Given the description of an element on the screen output the (x, y) to click on. 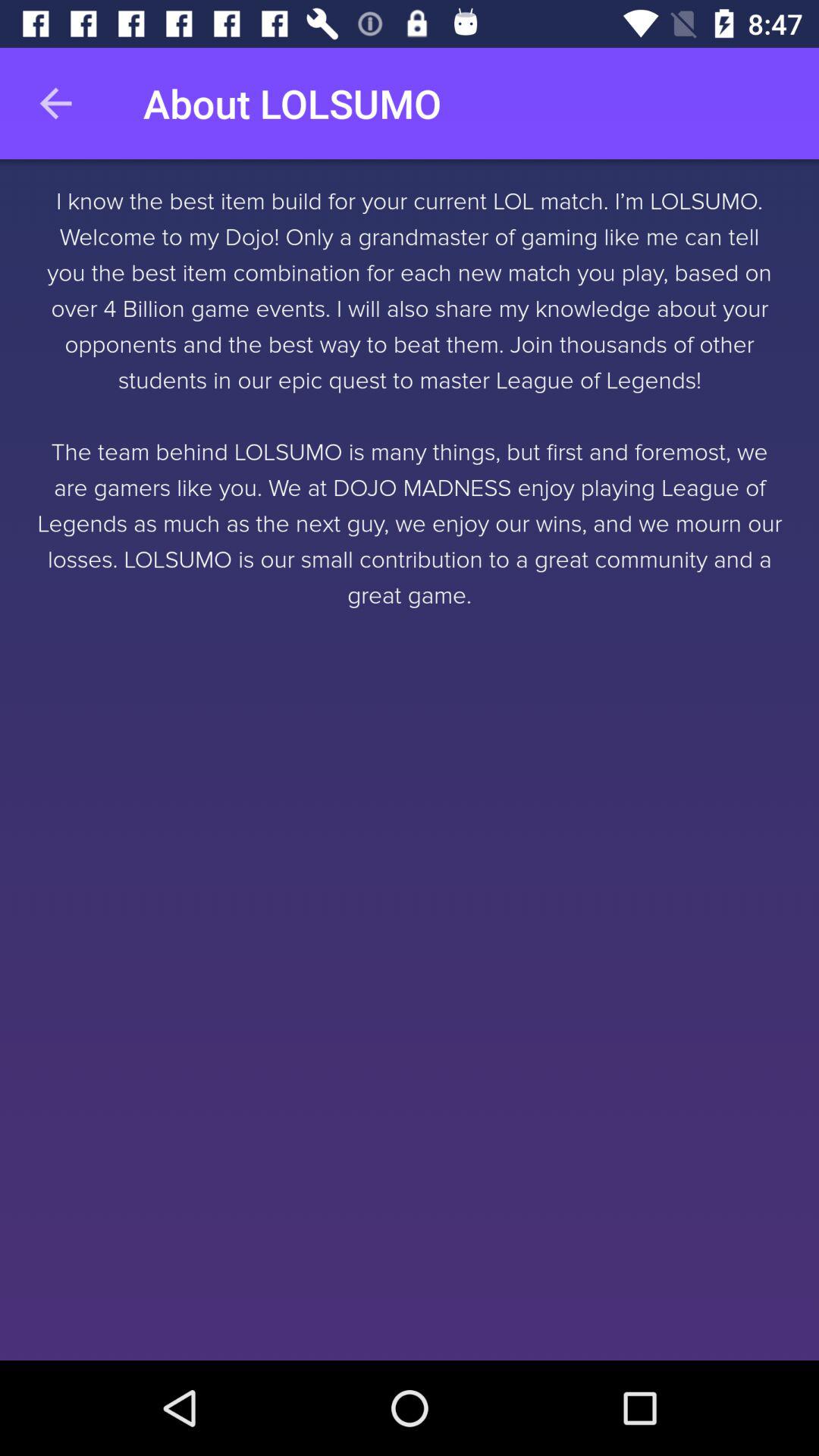
launch item next to about lolsumo icon (55, 103)
